Given the description of an element on the screen output the (x, y) to click on. 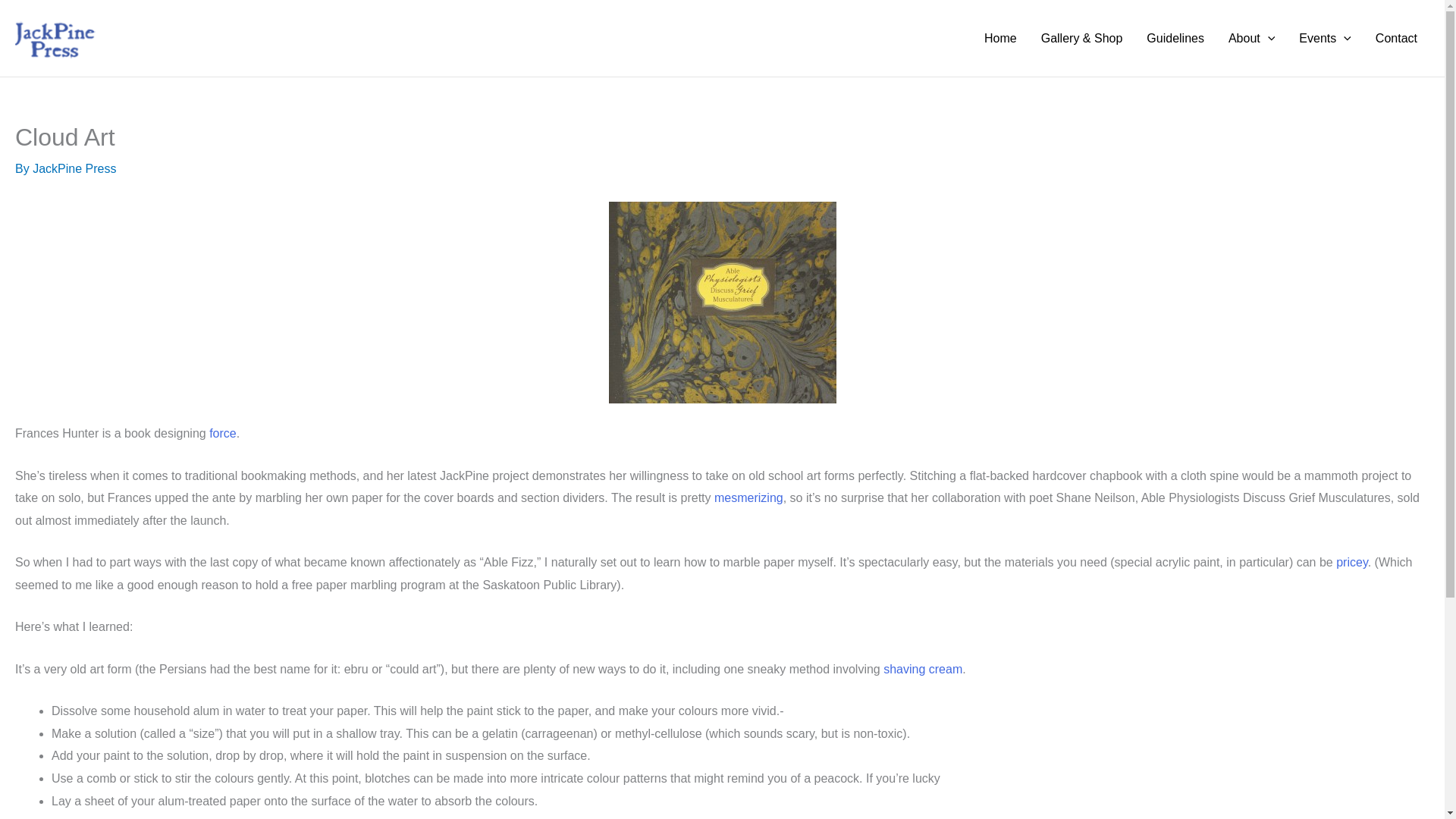
mesmerizing (748, 497)
pricey (1352, 562)
Guidelines (1174, 38)
Events (1324, 38)
shaving cream (922, 668)
force (222, 432)
View all posts by JackPine Press (74, 168)
JackPine Press (74, 168)
About (1251, 38)
